Given the description of an element on the screen output the (x, y) to click on. 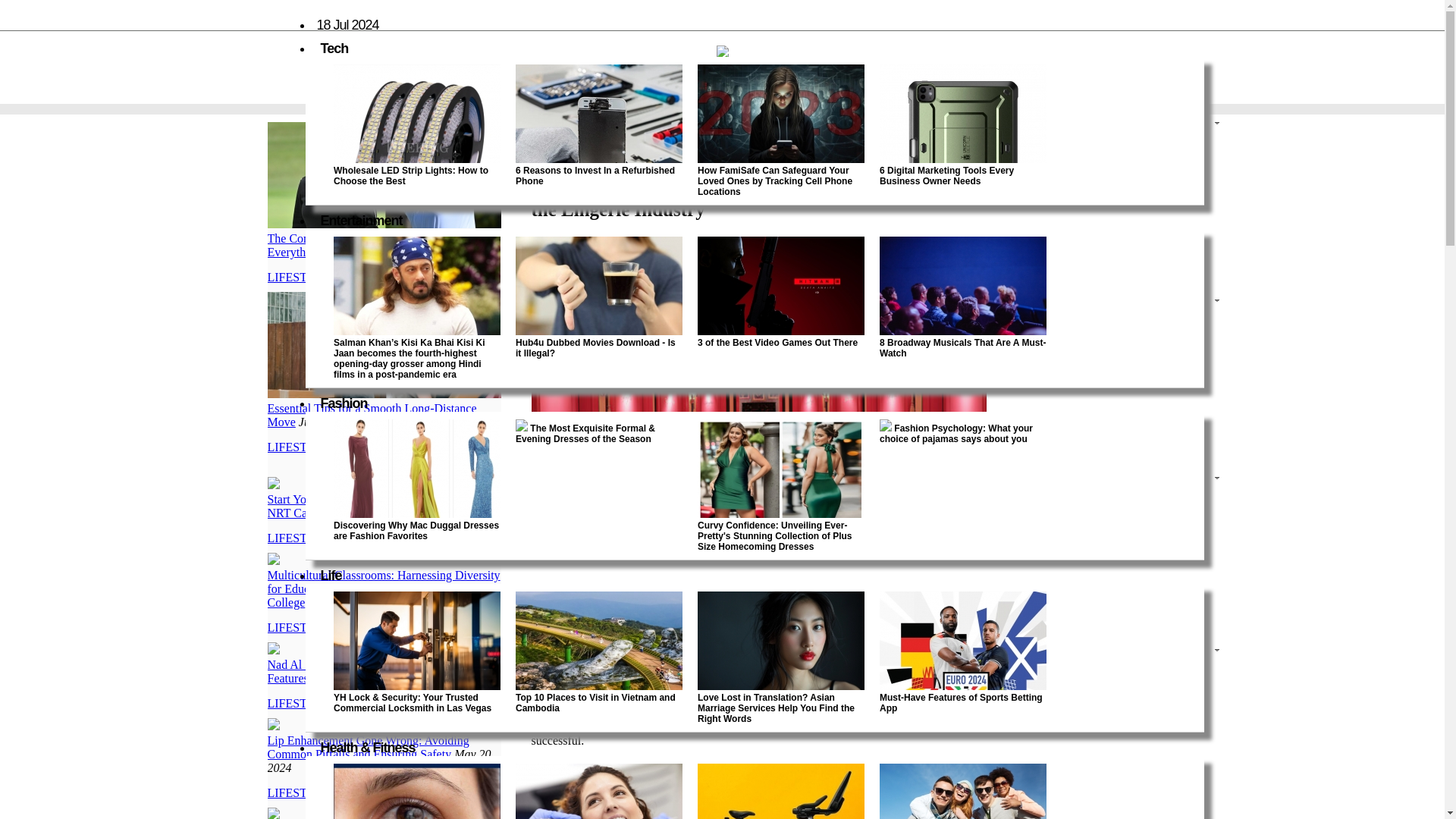
6 Digital Marketing Tools Every Business Owner Needs (946, 175)
Date (852, 252)
6 Reasons to Invest In a Refurbished Phone (595, 175)
Fashion (343, 403)
Wholesale LED Strip Lights: How to Choose the Best (410, 175)
Discovering Why Mac Duggal Dresses are Fashion Favorites (416, 530)
18 Jul 2024 (347, 24)
Entertainment (360, 220)
3 of the Best Video Games Out There (777, 342)
Hub4u Dubbed Movies Download - Is it Illegal? (595, 347)
8 Broadway Musicals That Are A Must-Watch (962, 347)
Tech (333, 48)
